Given the description of an element on the screen output the (x, y) to click on. 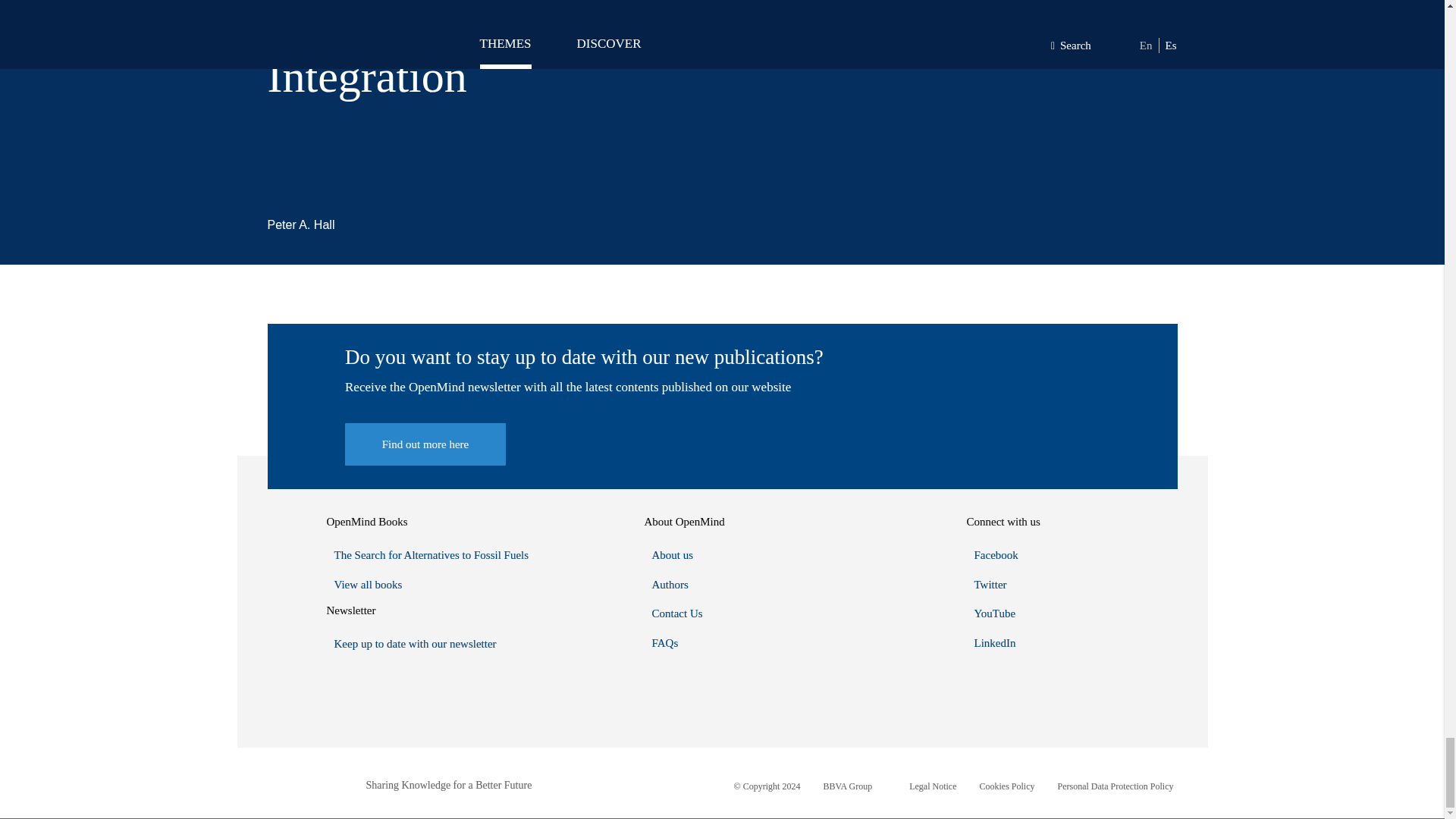
BBVA Group (847, 786)
Legal Notice (932, 786)
Cookies Policy (1007, 786)
Personal Data Protection Policy (1115, 786)
